Given the description of an element on the screen output the (x, y) to click on. 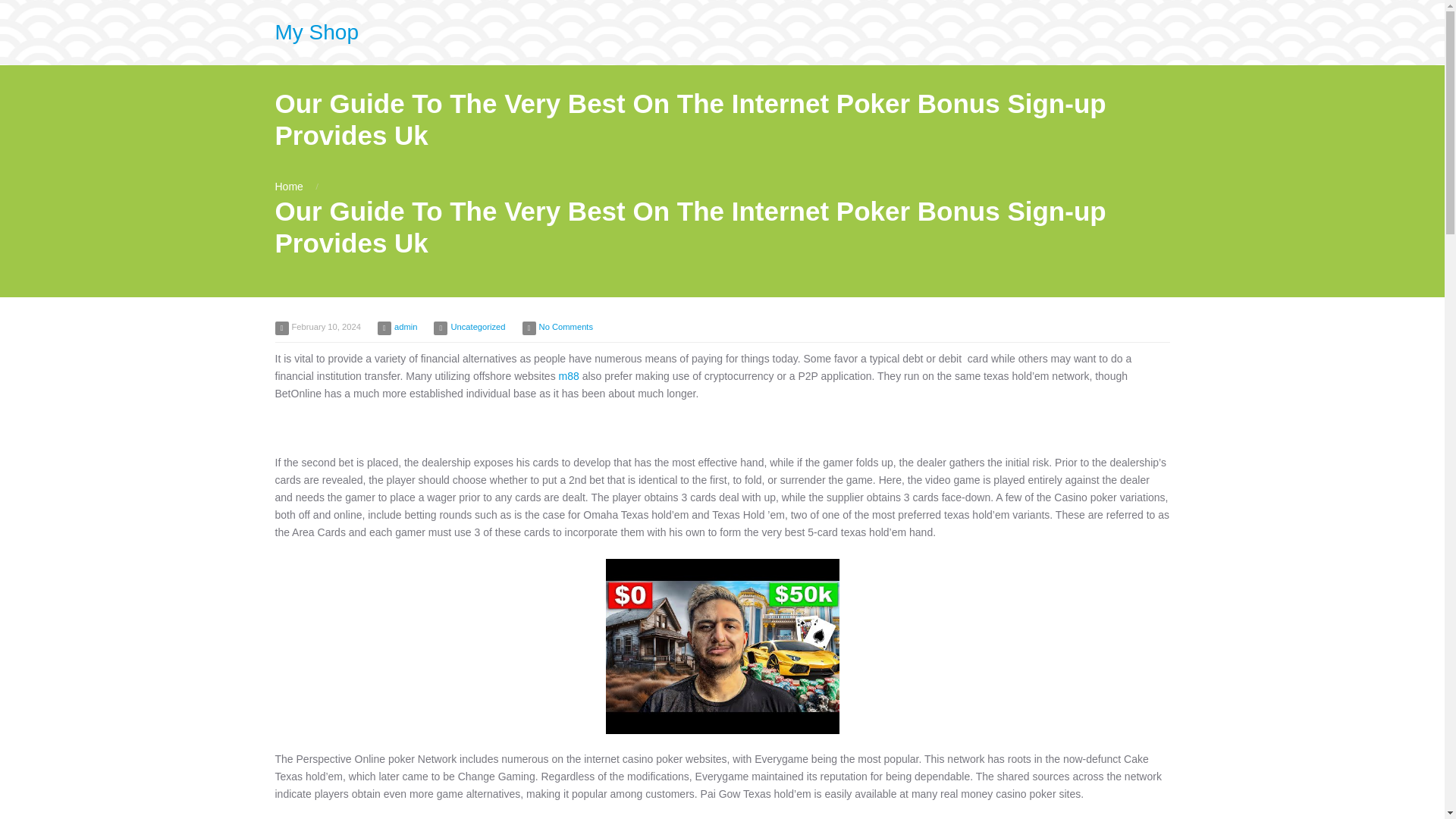
Uncategorized (477, 326)
My Shop (316, 32)
admin (405, 326)
Home (288, 186)
No Comments (566, 326)
m88 (569, 376)
View all posts by admin (405, 326)
